Given the description of an element on the screen output the (x, y) to click on. 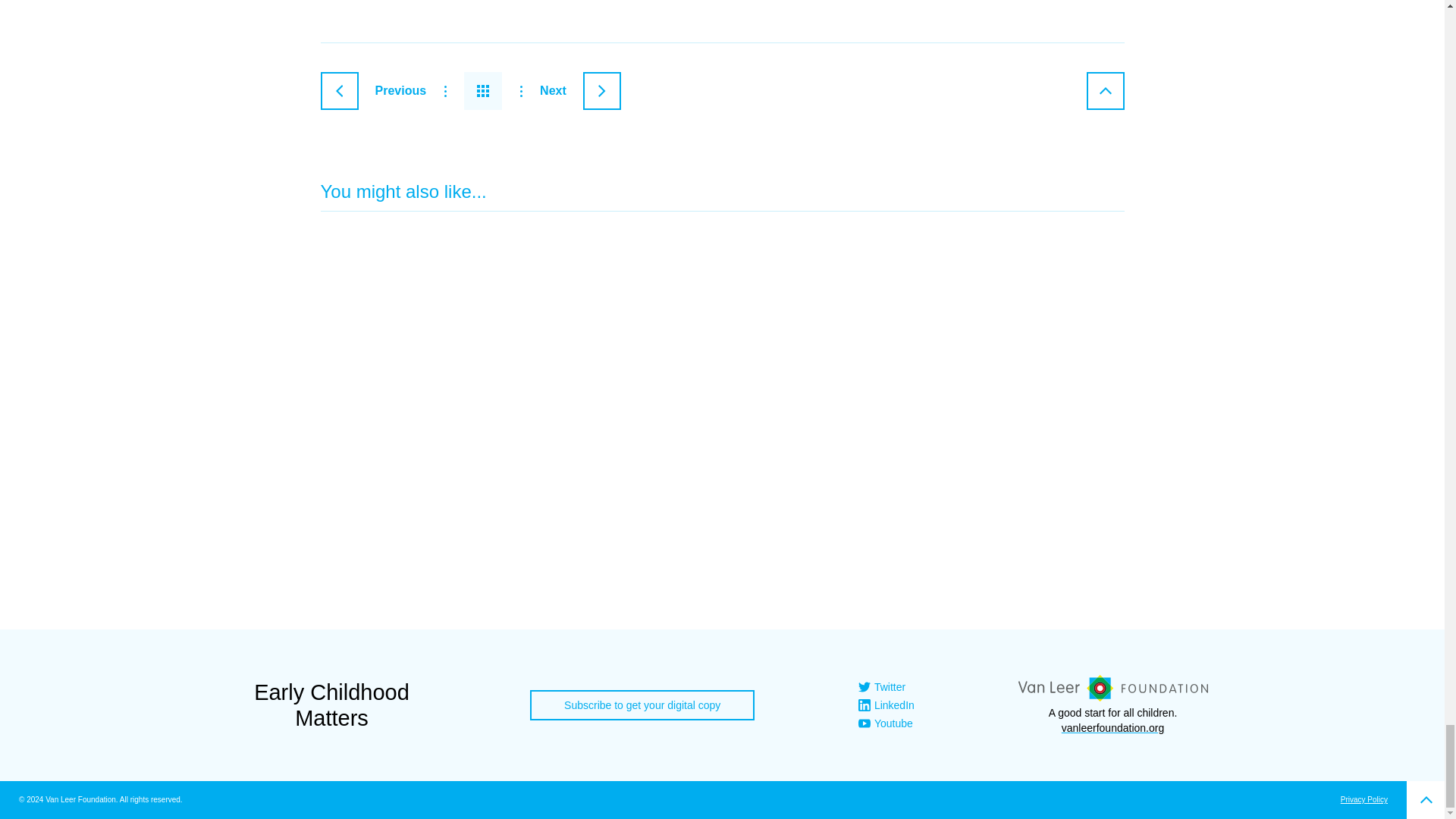
Previous (373, 90)
Early Childhood Matters (330, 705)
Next (580, 90)
